Given the description of an element on the screen output the (x, y) to click on. 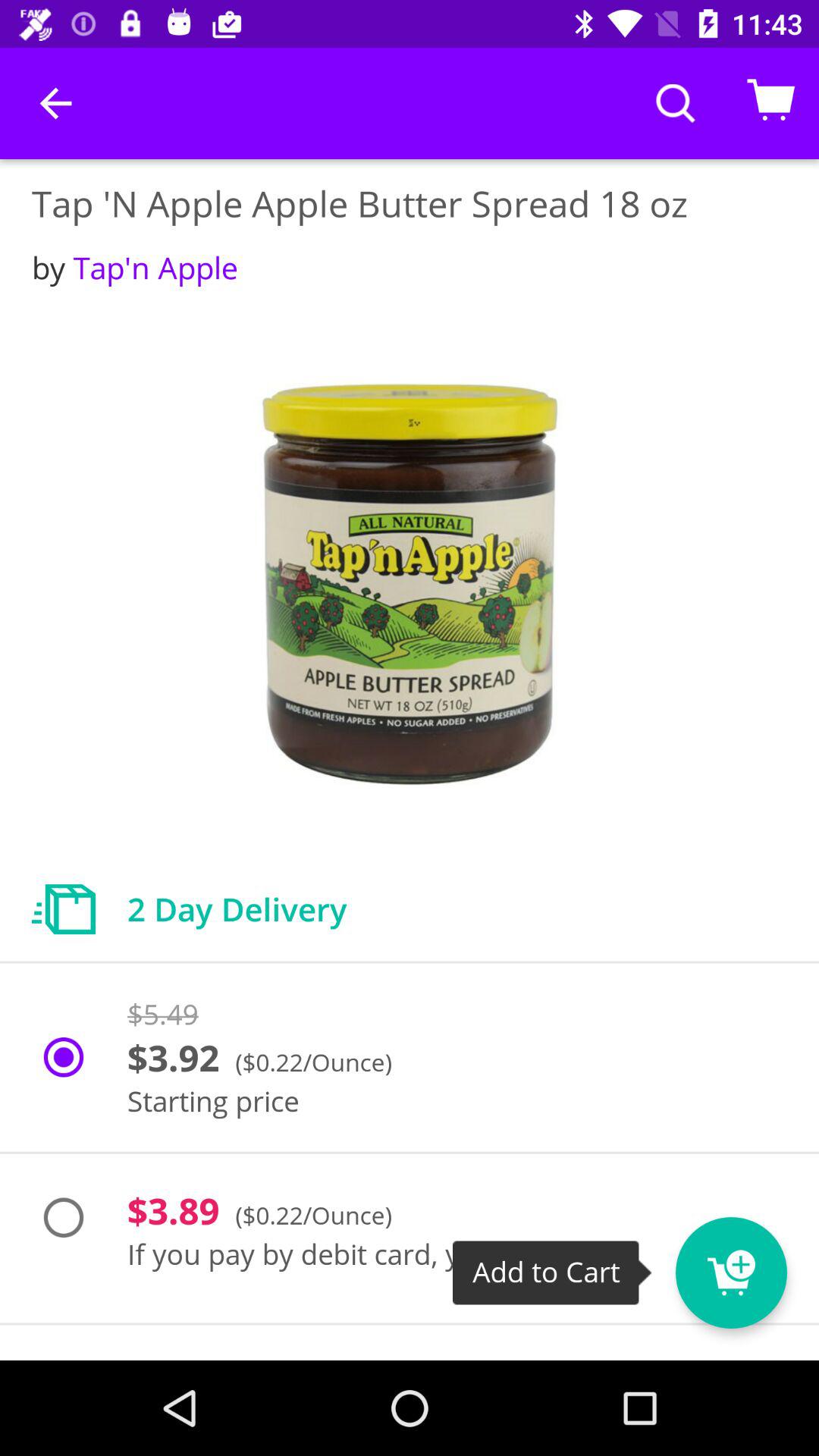
add item to the shopping cart (759, 1263)
